Given the description of an element on the screen output the (x, y) to click on. 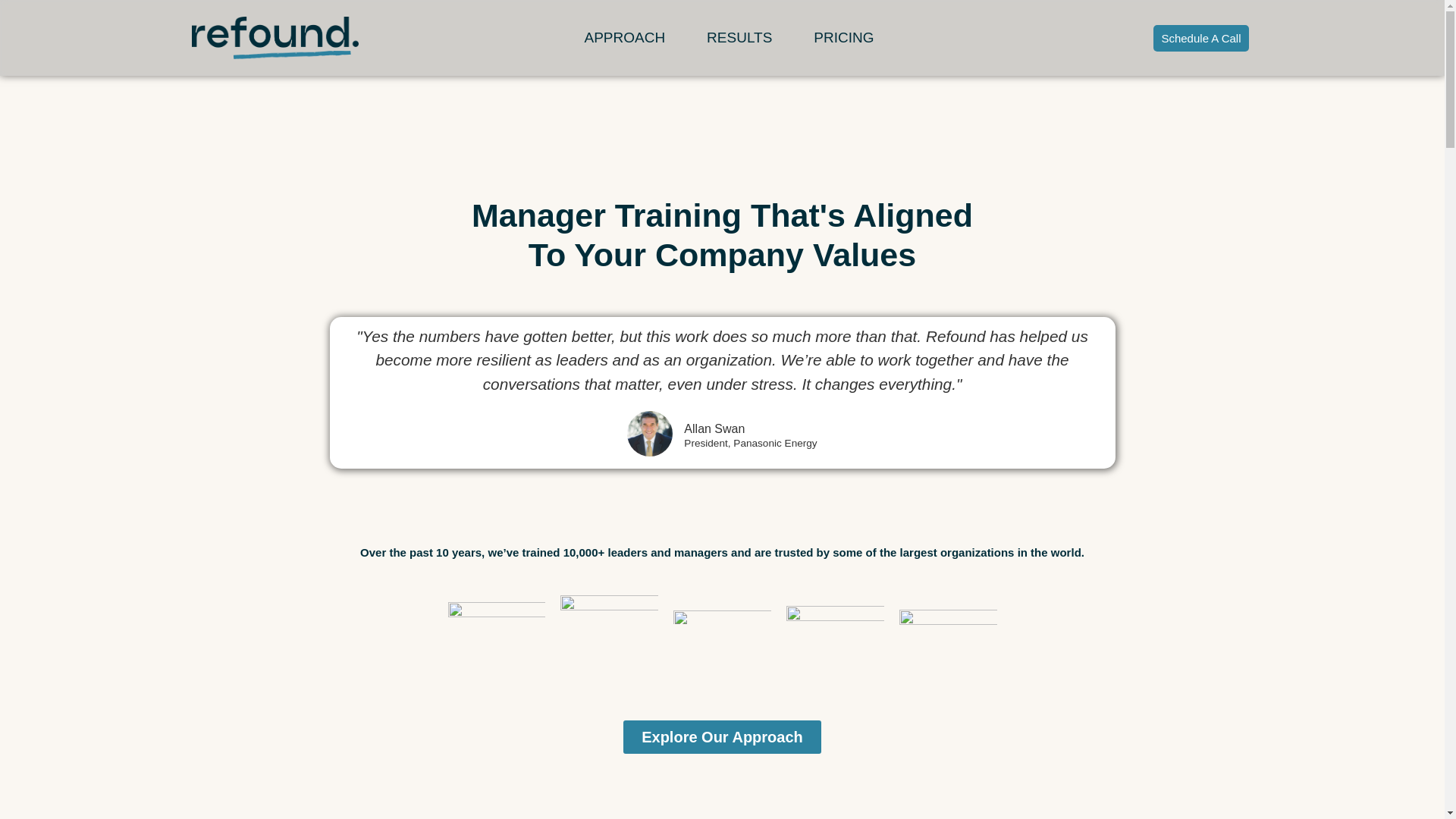
RESULTS (739, 37)
APPROACH (624, 37)
Explore Our Approach (722, 736)
PRICING (842, 37)
Schedule A Call (1200, 37)
